Given the description of an element on the screen output the (x, y) to click on. 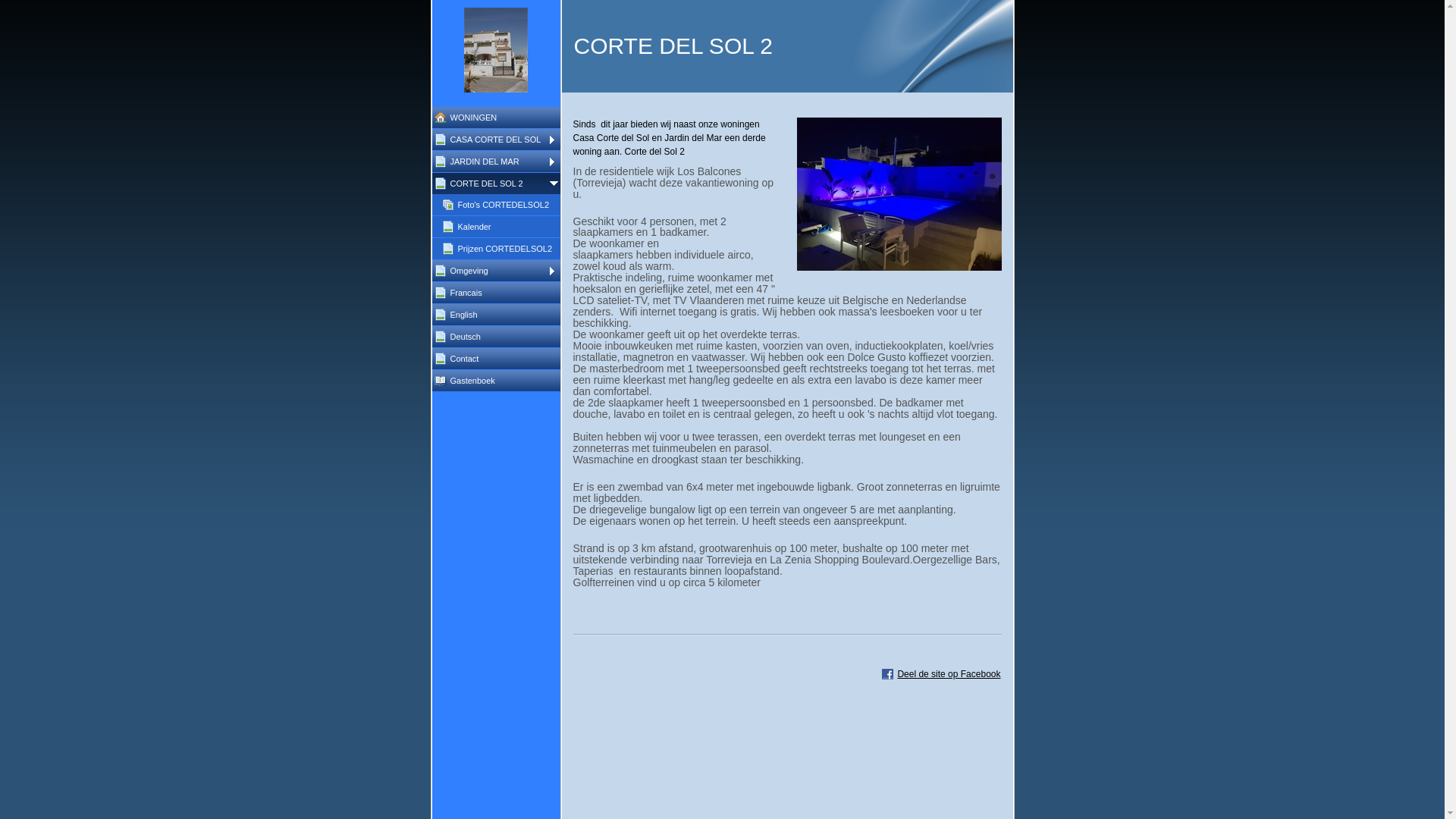
CASA CORTE DEL SOL Element type: text (496, 139)
English Element type: text (496, 314)
Contact Element type: text (496, 358)
Omgeving Element type: text (496, 270)
JARDIN DEL MAR Element type: text (496, 161)
WONINGEN Element type: text (496, 117)
Deutsch Element type: text (496, 336)
Prijzen CORTEDELSOL2 Element type: text (499, 248)
Francais Element type: text (496, 292)
CORTE DEL SOL 2 Element type: text (496, 183)
Kalender Element type: text (499, 226)
Foto's CORTEDELSOL2 Element type: text (499, 204)
Deel de site op Facebook Element type: text (940, 673)
Gastenboek Element type: text (496, 380)
